Given the description of an element on the screen output the (x, y) to click on. 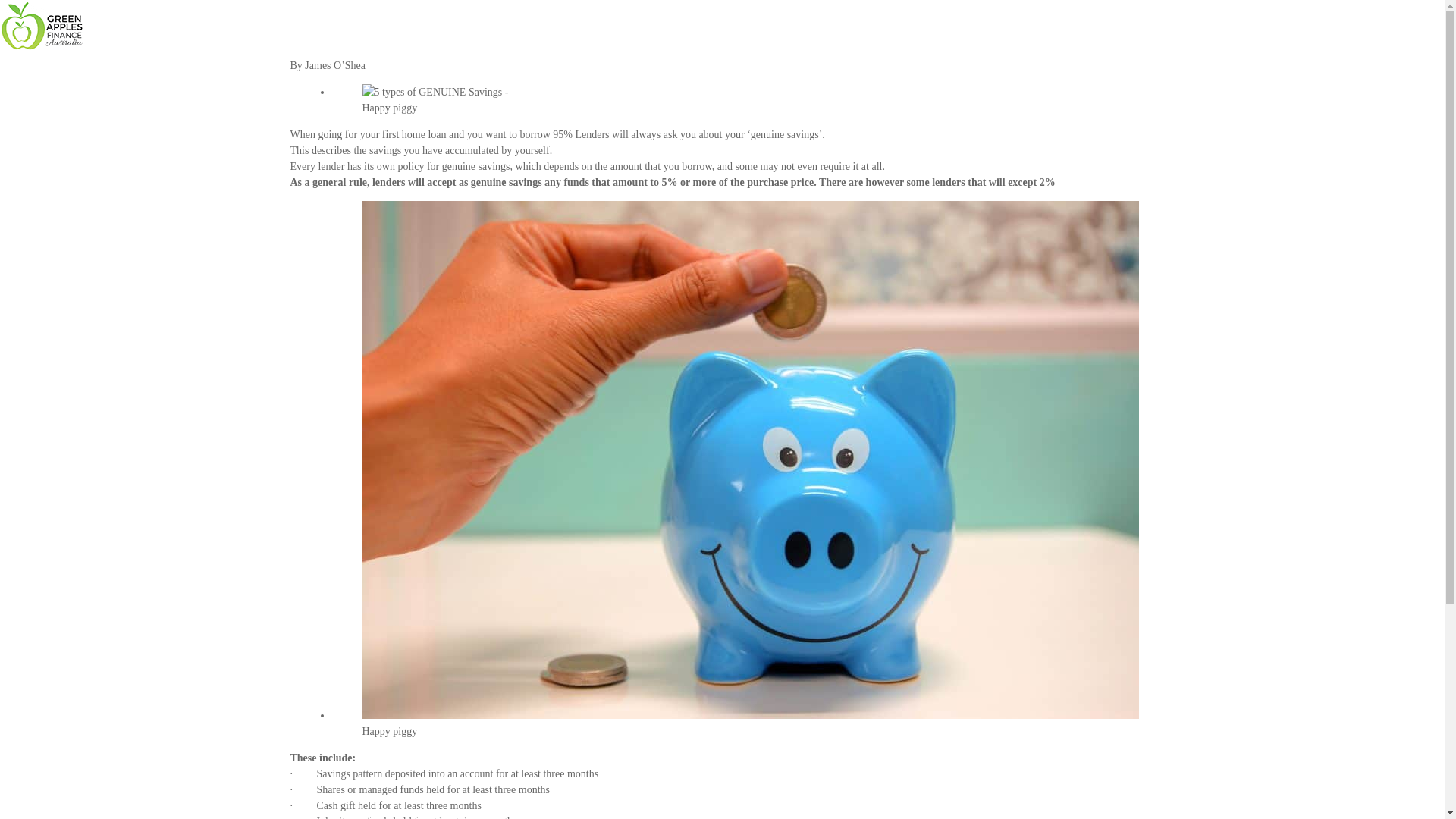
5 types of GENUINE Savings - Element type: hover (435, 92)
5 types of GENUINE Savings - Element type: hover (750, 459)
